Given the description of an element on the screen output the (x, y) to click on. 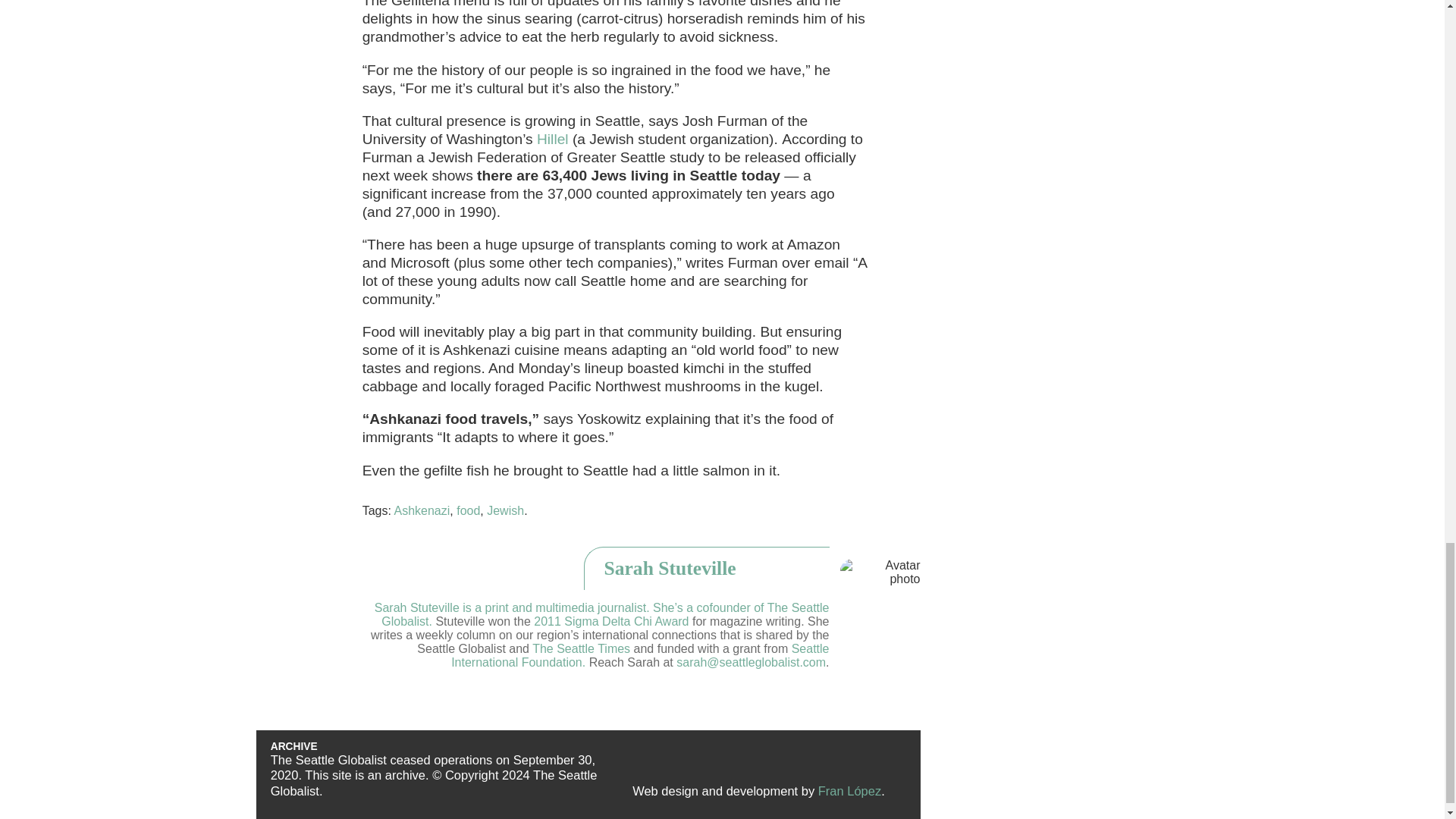
Ashkenazi (421, 510)
The Seattle Globalist. (604, 614)
Hillel (553, 139)
Seattle International Foundation. (639, 655)
Jewish (505, 510)
Sarah Stuteville (751, 570)
The Seattle Times (581, 648)
food (468, 510)
2011 Sigma Delta Chi Award (611, 621)
